Given the description of an element on the screen output the (x, y) to click on. 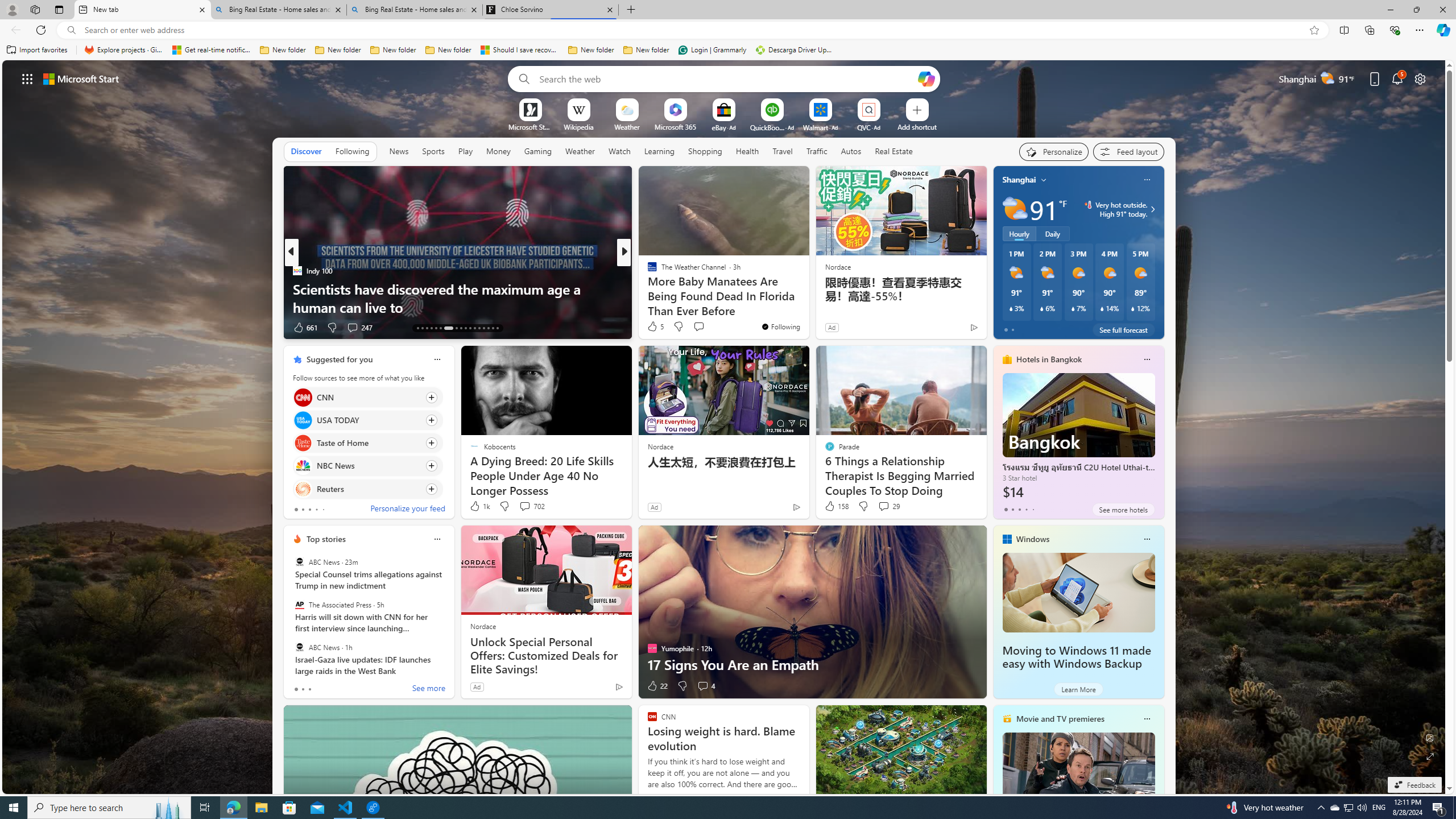
Personalize your feed (407, 509)
Travel (782, 151)
AutomationID: tab-13 (417, 328)
View comments 702 Comment (530, 505)
Traffic (816, 151)
Class: weather-arrow-glyph (1152, 208)
AutomationID: tab-22 (465, 328)
Wikipedia (578, 126)
Bing Real Estate - Home sales and rental listings (414, 9)
Daily (1052, 233)
Class: weather-current-precipitation-glyph (1133, 308)
